Given the description of an element on the screen output the (x, y) to click on. 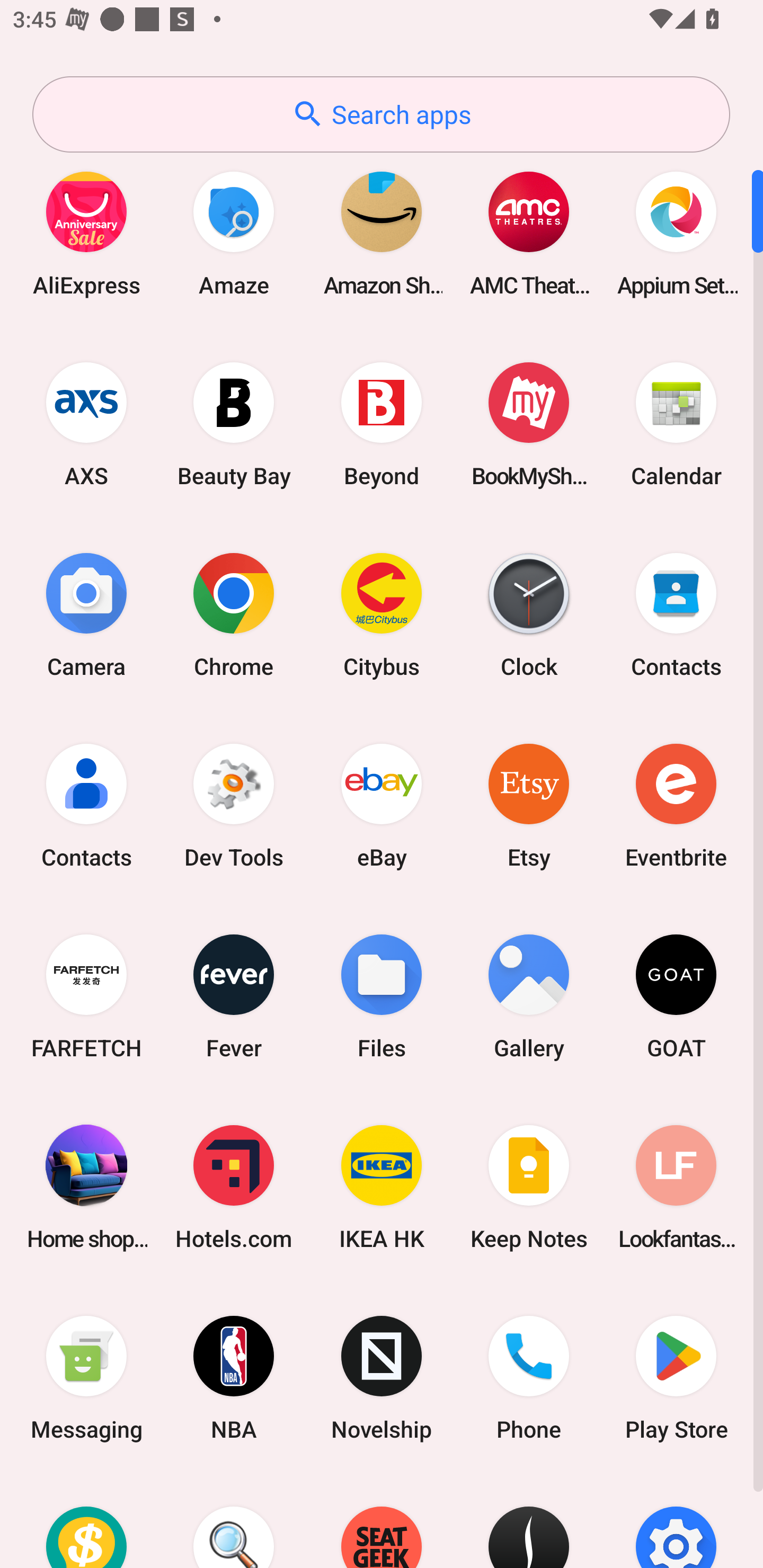
  Search apps (381, 114)
AliExpress (86, 233)
Amaze (233, 233)
Amazon Shopping (381, 233)
AMC Theatres (528, 233)
Appium Settings (676, 233)
AXS (86, 424)
Beauty Bay (233, 424)
Beyond (381, 424)
BookMyShow (528, 424)
Calendar (676, 424)
Camera (86, 614)
Chrome (233, 614)
Citybus (381, 614)
Clock (528, 614)
Contacts (676, 614)
Contacts (86, 805)
Dev Tools (233, 805)
eBay (381, 805)
Etsy (528, 805)
Eventbrite (676, 805)
FARFETCH (86, 996)
Fever (233, 996)
Files (381, 996)
Gallery (528, 996)
GOAT (676, 996)
Home shopping (86, 1186)
Hotels.com (233, 1186)
IKEA HK (381, 1186)
Keep Notes (528, 1186)
Lookfantastic (676, 1186)
Messaging (86, 1377)
NBA (233, 1377)
Novelship (381, 1377)
Phone (528, 1377)
Play Store (676, 1377)
Price (86, 1520)
Search (233, 1520)
SeatGeek (381, 1520)
Sephora (528, 1520)
Settings (676, 1520)
